Given the description of an element on the screen output the (x, y) to click on. 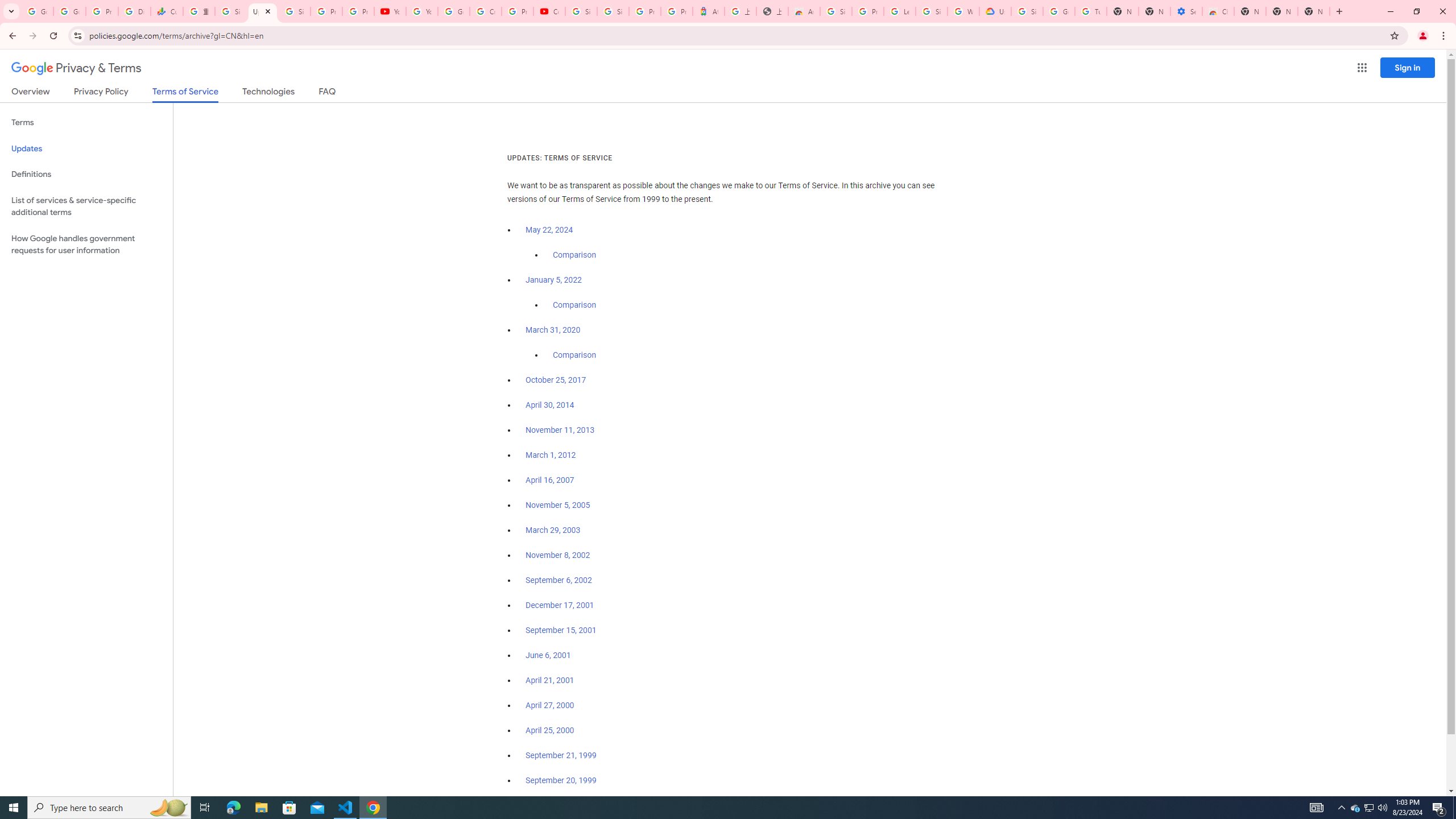
November 8, 2002 (557, 555)
April 21, 2001 (550, 679)
March 31, 2020 (552, 330)
March 29, 2003 (552, 530)
Google Workspace Admin Community (37, 11)
November 11, 2013 (560, 430)
Privacy Checkup (358, 11)
List of services & service-specific additional terms (86, 206)
